Given the description of an element on the screen output the (x, y) to click on. 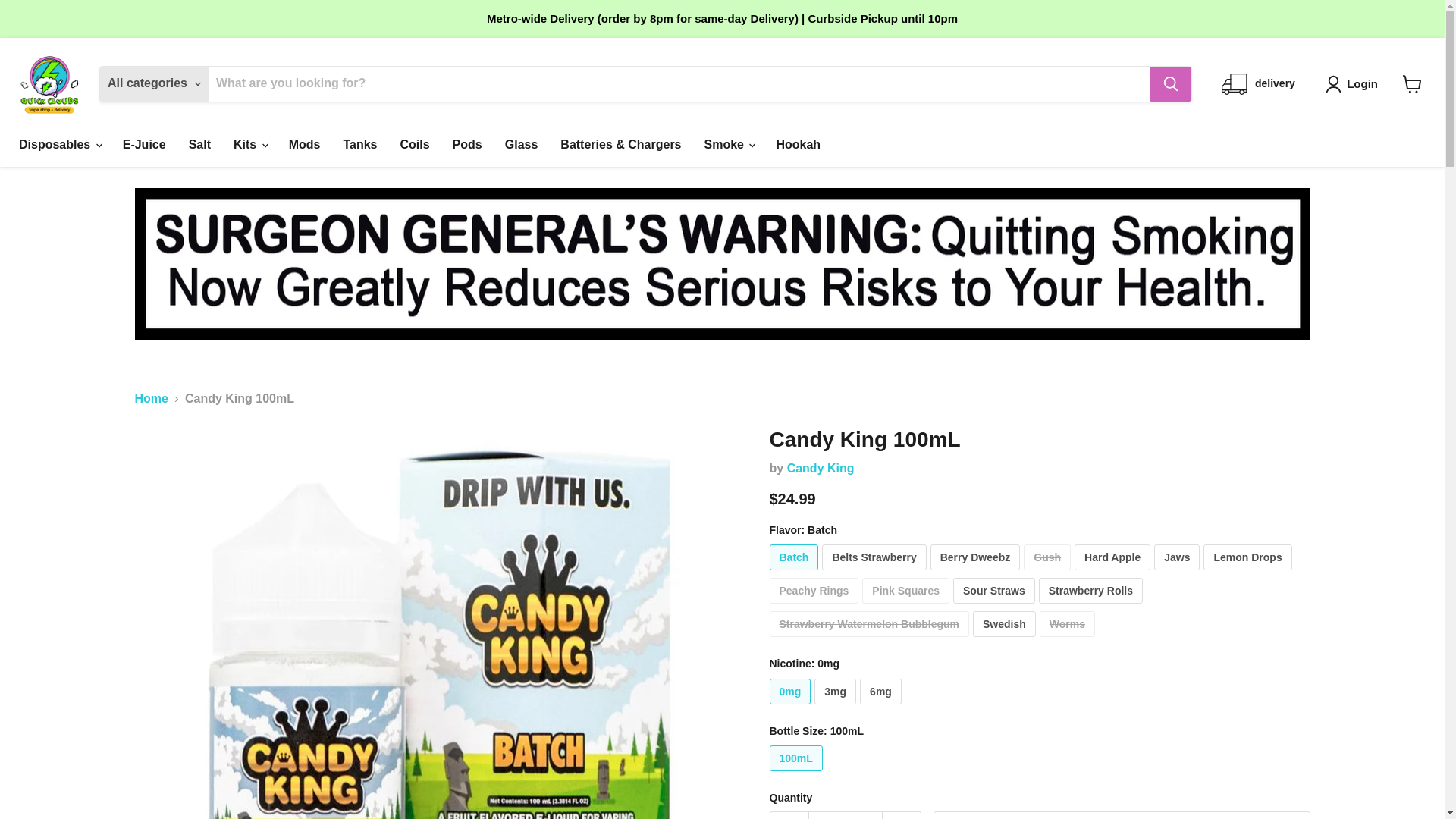
Login (1354, 84)
Mods (304, 144)
Glass (521, 144)
Coils (414, 144)
View cart (1411, 82)
Candy King (820, 468)
Hookah (797, 144)
Tanks (359, 144)
1 (845, 815)
Salt (199, 144)
Pods (467, 144)
delivery (1258, 83)
E-Juice (144, 144)
